Given the description of an element on the screen output the (x, y) to click on. 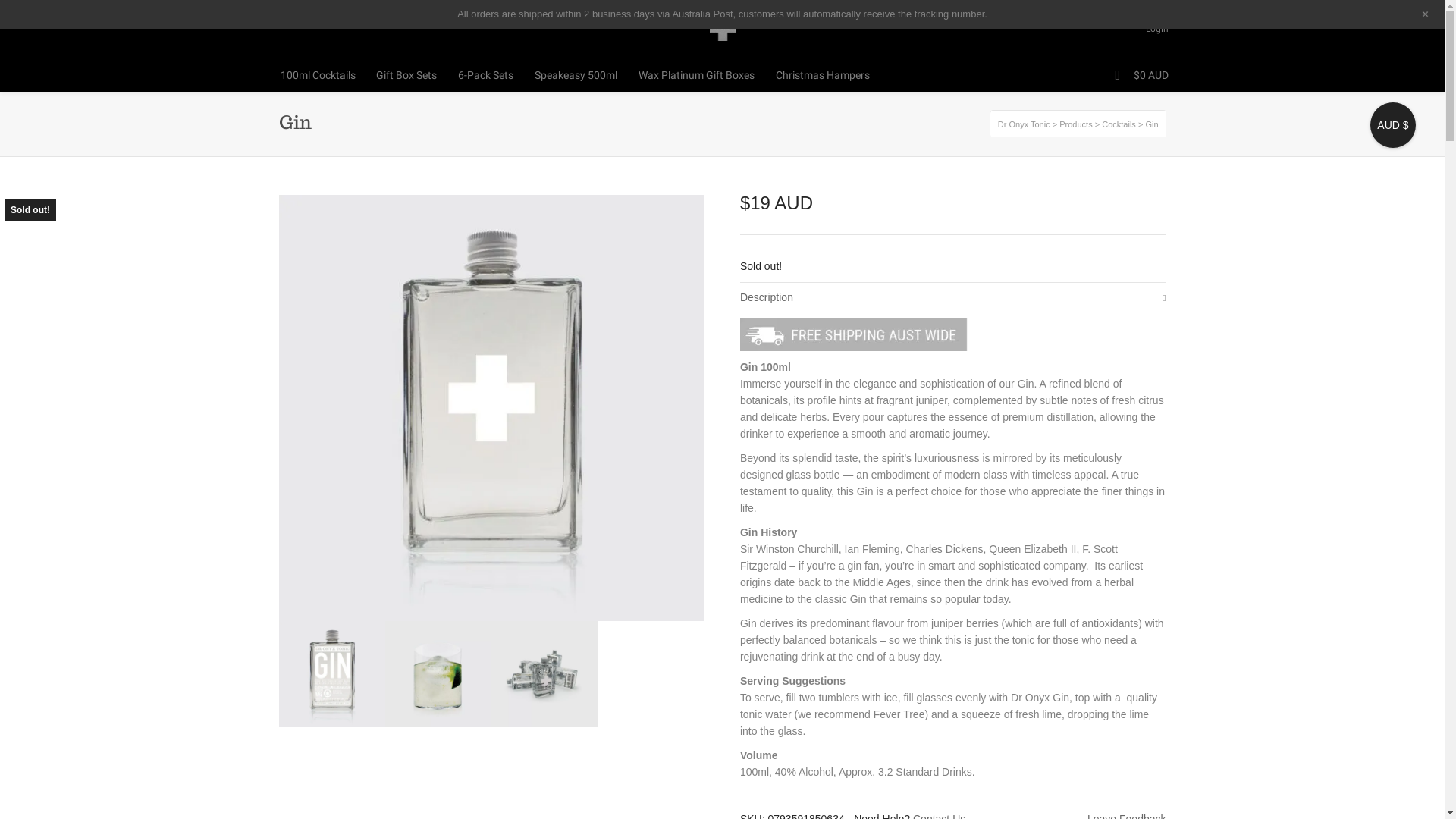
100ml Cocktails Element type: text (317, 74)
$0 AUD Element type: text (1145, 74)
gin_100ml_back Element type: hover (332, 674)
Gift Box Sets Element type: text (406, 74)
gin_100ml_front Element type: hover (492, 407)
Cocktails Element type: text (1118, 123)
Christmas Hampers Element type: text (822, 74)
AUD $ Element type: text (1392, 124)
Login Element type: text (1160, 28)
Speakeasy 500ml Element type: text (575, 74)
Description Element type: text (953, 296)
ginandtonic-tumbler Element type: hover (438, 674)
6-Pack Sets Element type: text (485, 74)
+ Element type: text (1425, 14)
Products Element type: text (1075, 123)
justgin Element type: hover (544, 674)
Dr Onyx Tonic Element type: text (1023, 123)
Wax Platinum Gift Boxes Element type: text (696, 74)
